Given the description of an element on the screen output the (x, y) to click on. 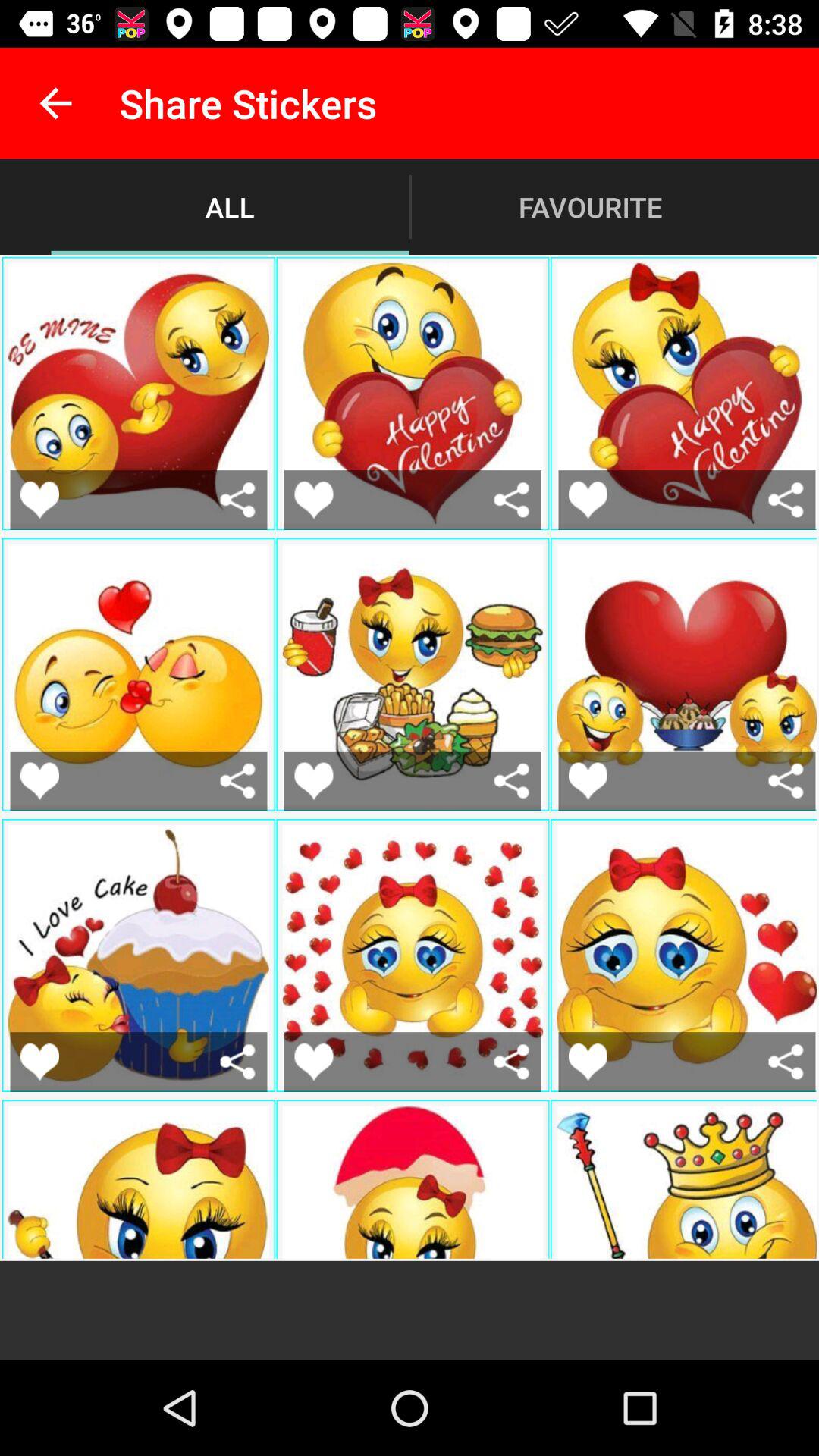
add to favorite (39, 780)
